Given the description of an element on the screen output the (x, y) to click on. 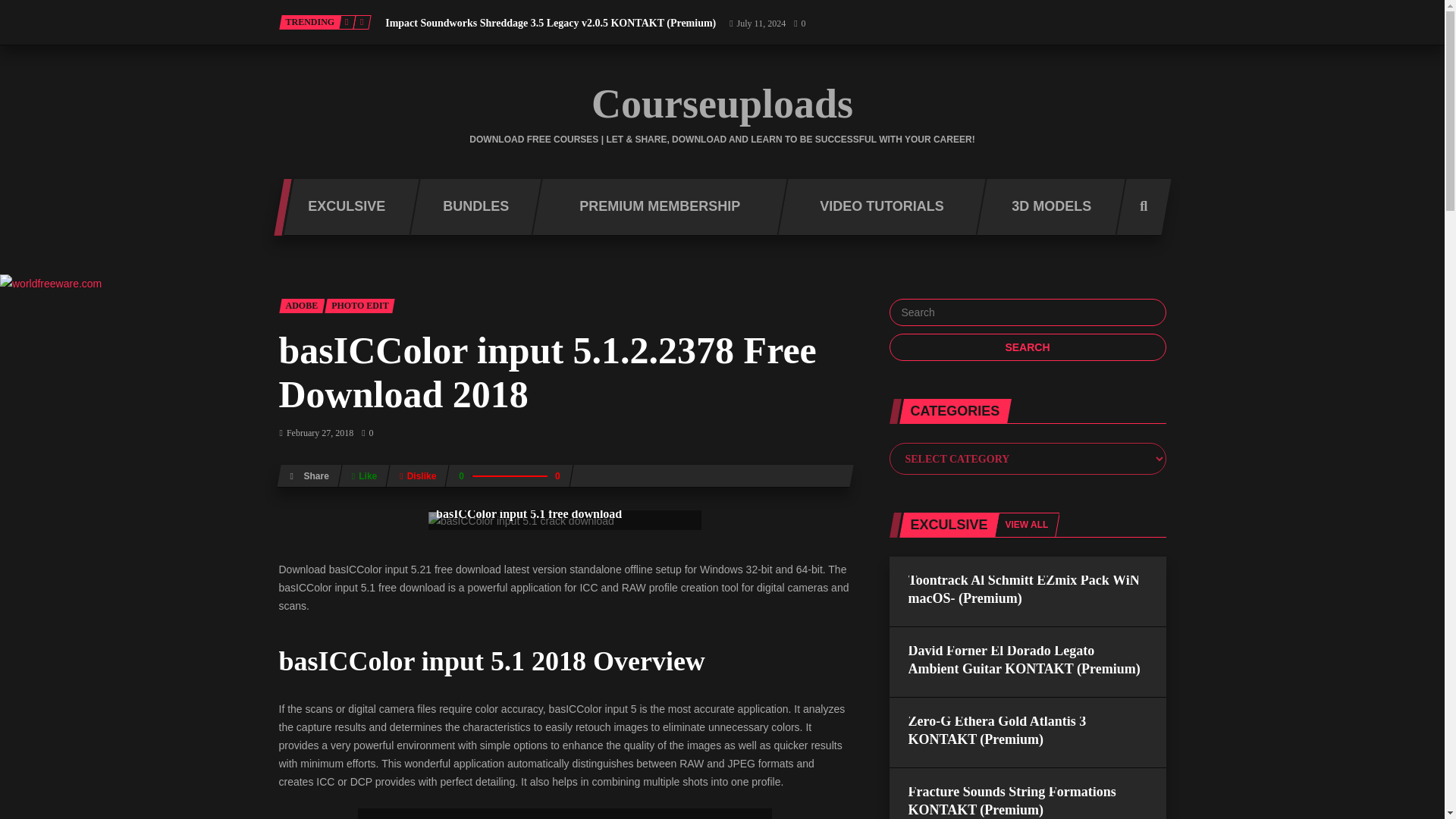
Search (1027, 347)
photo edit (359, 305)
TRENDING (310, 22)
Bundles (470, 207)
EXCULSIVE (341, 207)
0 (799, 23)
Video Tutorials (876, 207)
BUNDLES (470, 207)
Premium membership (654, 207)
Exculsive (341, 207)
Adobe (301, 305)
Courseuploads (722, 103)
July 11, 2024 (757, 23)
3D Models (1045, 207)
PREMIUM MEMBERSHIP (654, 207)
